Given the description of an element on the screen output the (x, y) to click on. 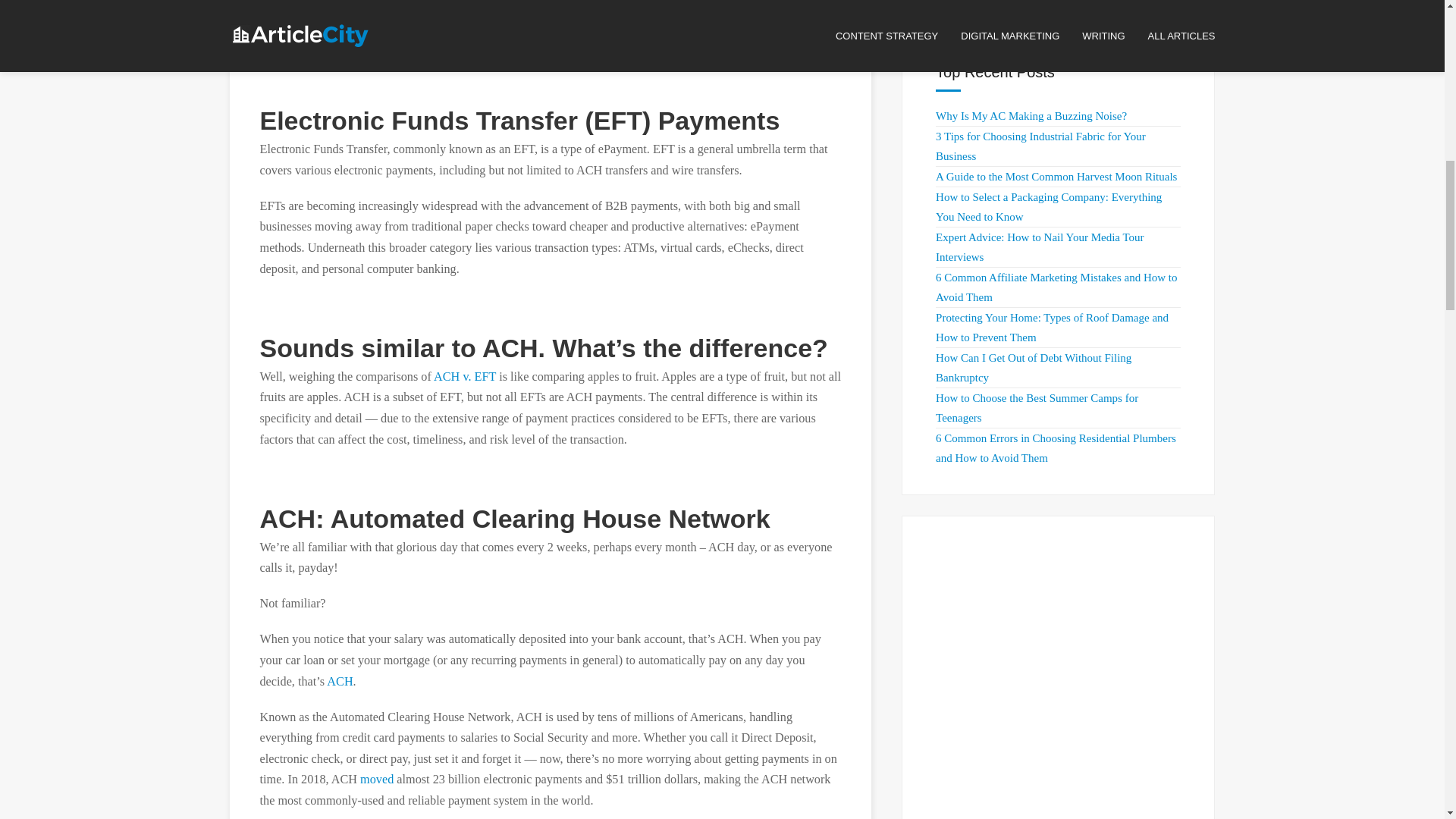
moved (376, 779)
3 Tips for Choosing Industrial Fabric for Your Business (1040, 146)
Why Is My AC Making a Buzzing Noise? (1031, 115)
How to Choose the Best Summer Camps for Teenagers (1037, 408)
Expert Advice: How to Nail Your Media Tour Interviews (1039, 246)
6 Common Affiliate Marketing Mistakes and How to Avoid Them (1056, 287)
ACH (339, 681)
A Guide to the Most Common Harvest Moon Rituals (1056, 176)
ACH v. EFT (464, 377)
How Can I Get Out of Debt Without Filing Bankruptcy (1033, 368)
